Given the description of an element on the screen output the (x, y) to click on. 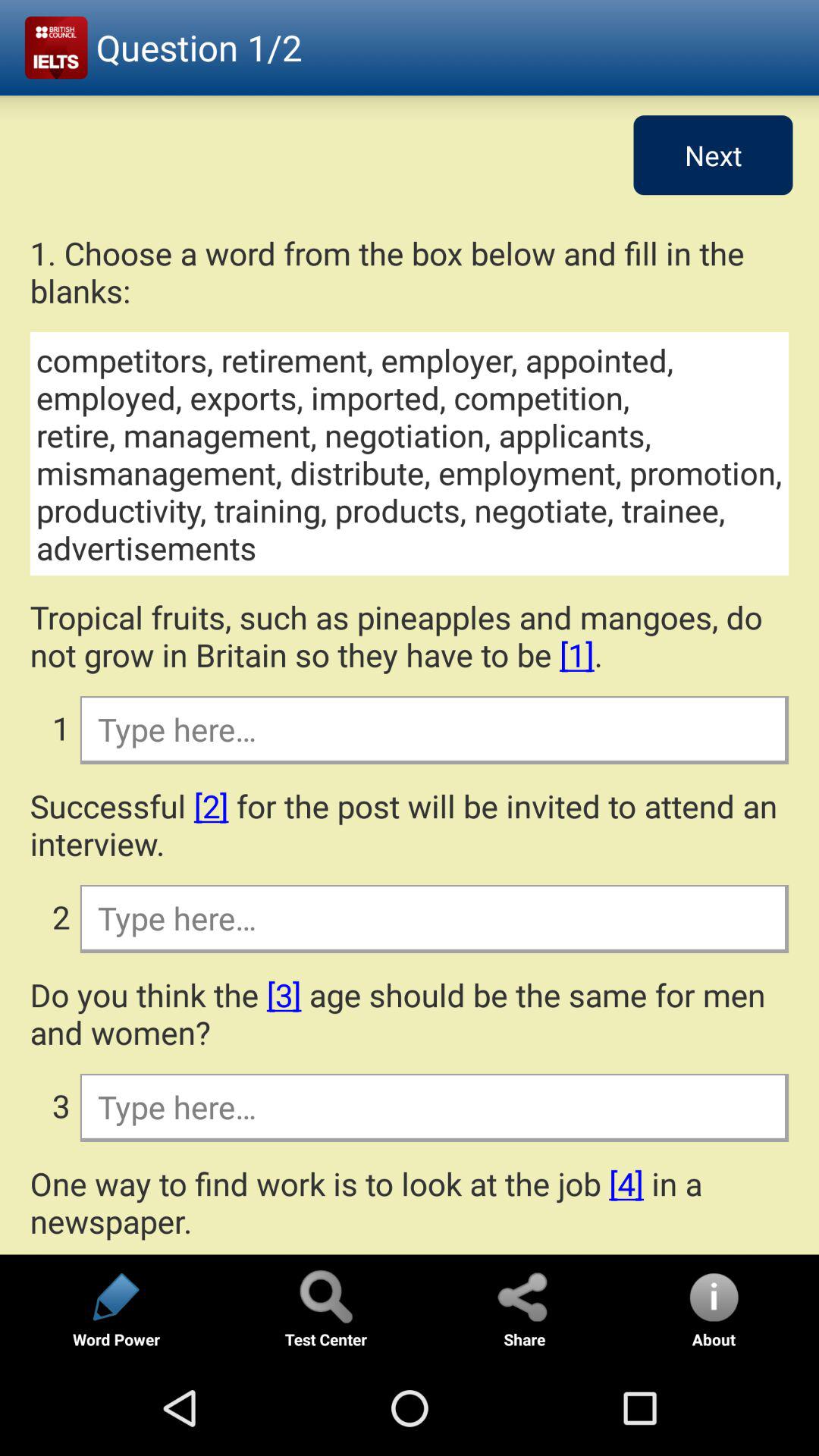
launch the do you think icon (409, 1013)
